Given the description of an element on the screen output the (x, y) to click on. 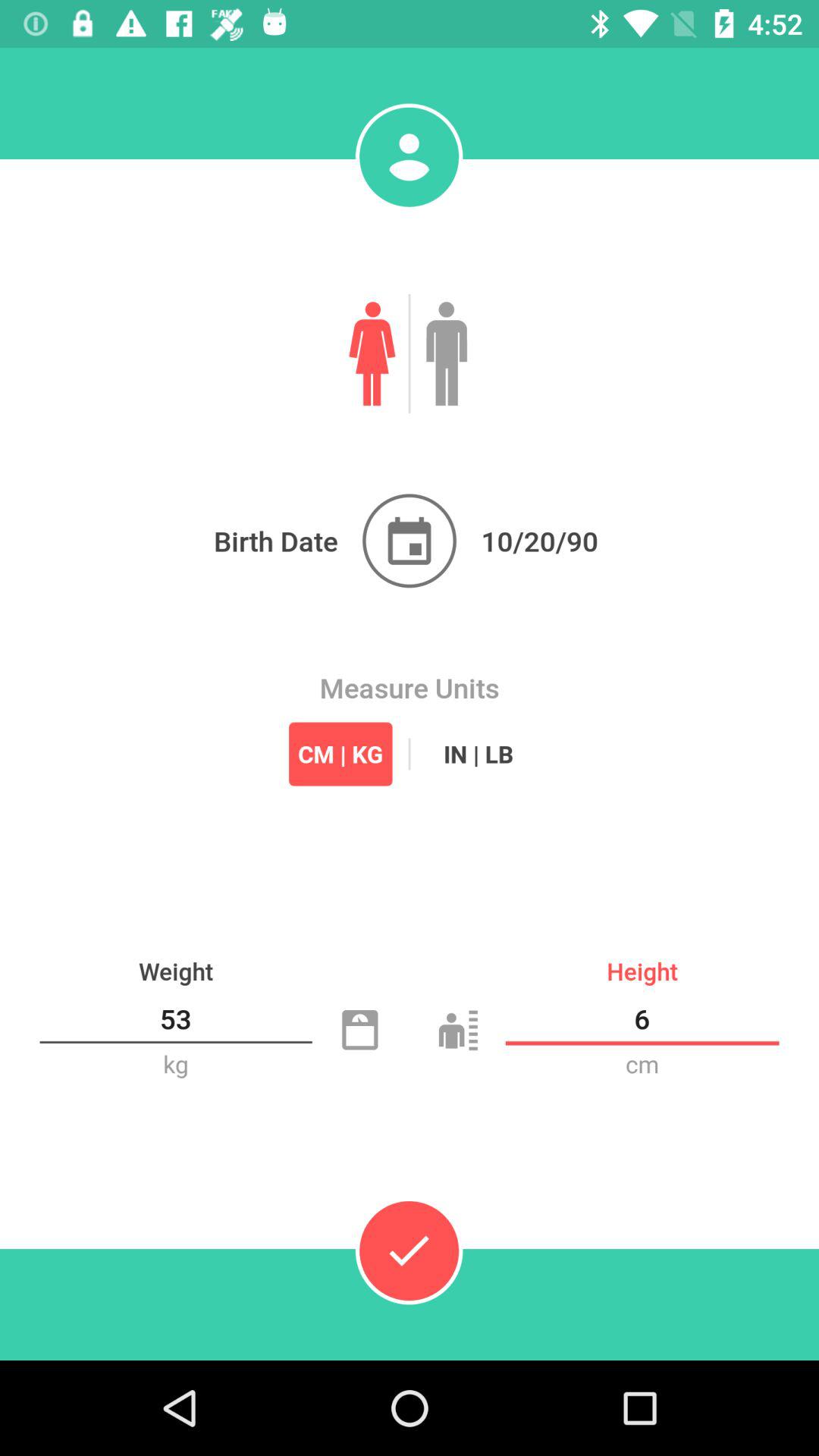
save progress (408, 1250)
